Given the description of an element on the screen output the (x, y) to click on. 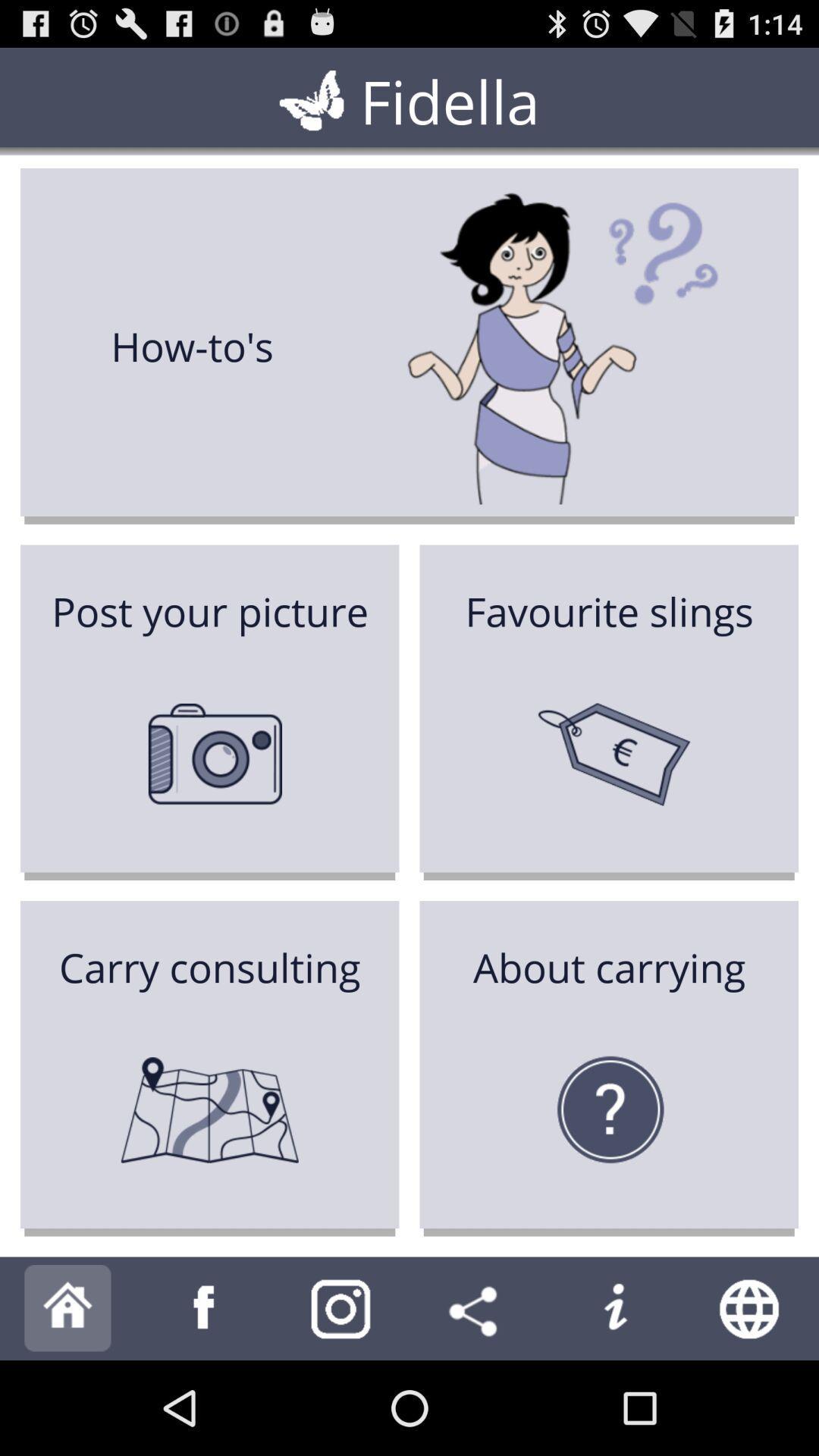
share (477, 1308)
